Given the description of an element on the screen output the (x, y) to click on. 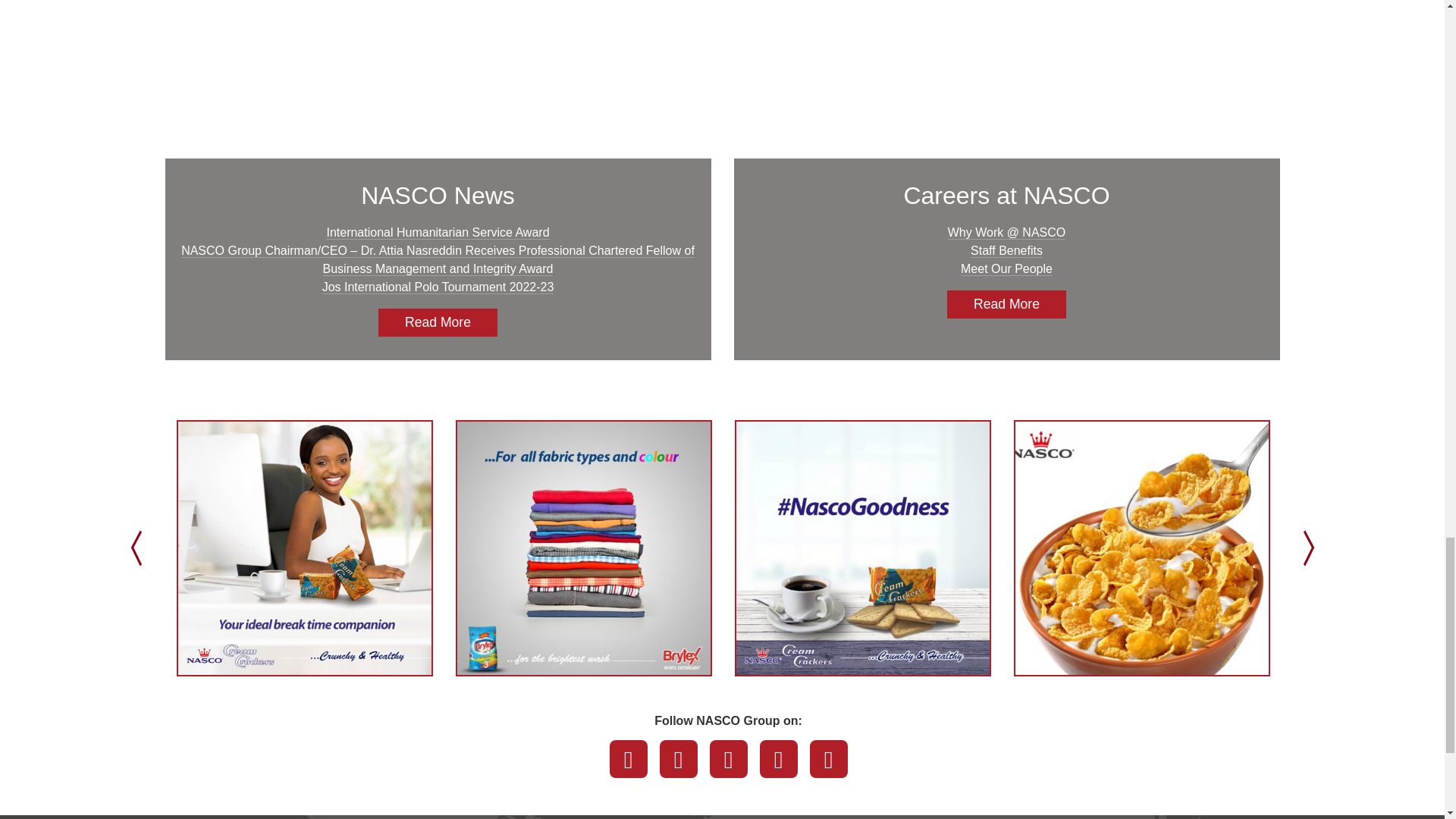
See us on Facebook (628, 759)
Read our Tweets (678, 759)
NASCO News Item (1141, 547)
NASCO News Item (583, 547)
Visit our LinkedIn profile (778, 759)
NASCO News Item (861, 547)
Watch on YouTube (729, 759)
NASCO News Item (303, 547)
